Given the description of an element on the screen output the (x, y) to click on. 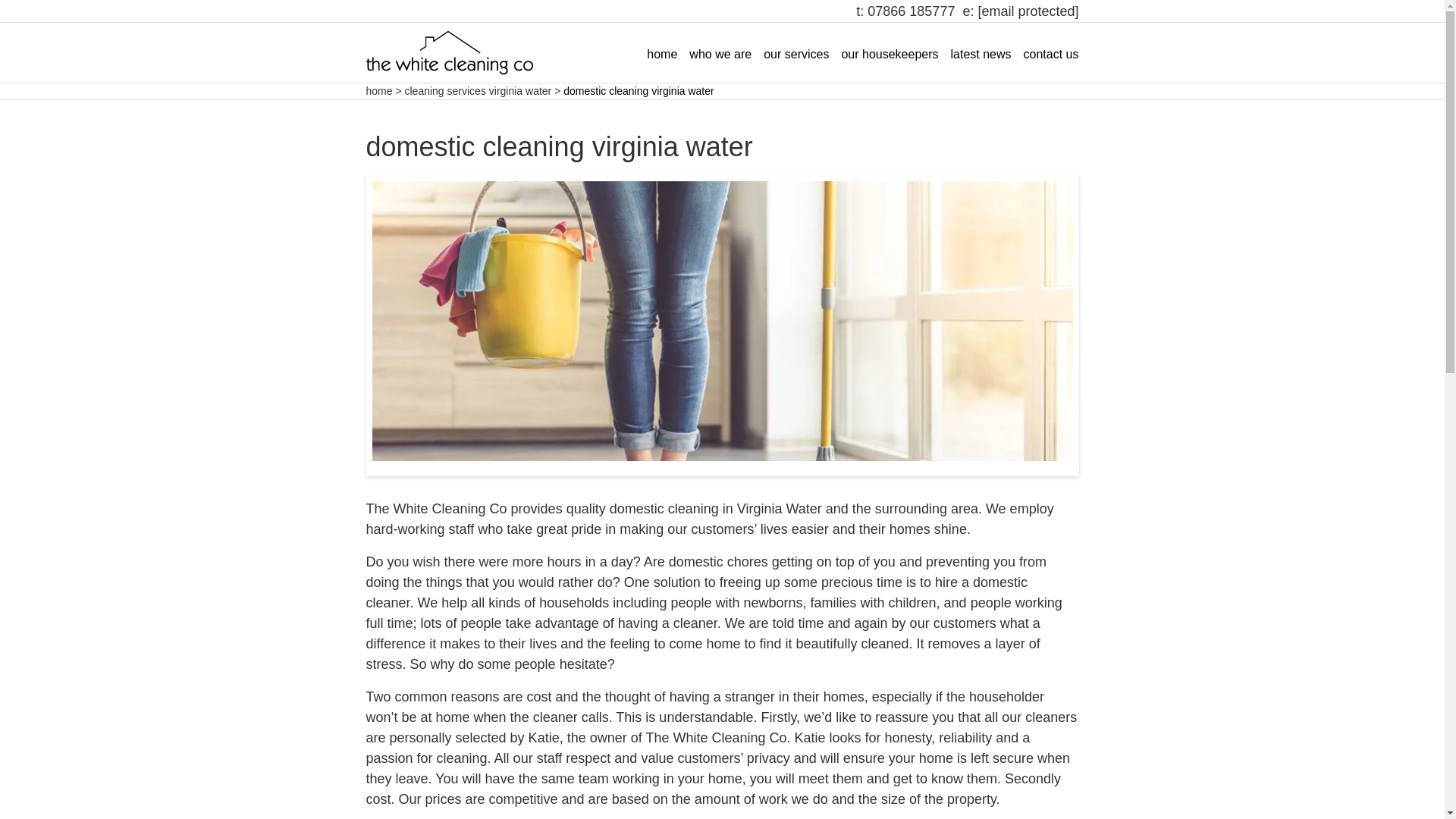
who we are (719, 54)
home (661, 54)
cleaning services virginia water (477, 91)
our services (795, 54)
latest news (980, 54)
our services (795, 54)
contact us (1050, 54)
home (661, 54)
contact us (1050, 54)
latest news (980, 54)
our housekeepers (889, 54)
home (378, 91)
our housekeepers (889, 54)
who we are (719, 54)
